Given the description of an element on the screen output the (x, y) to click on. 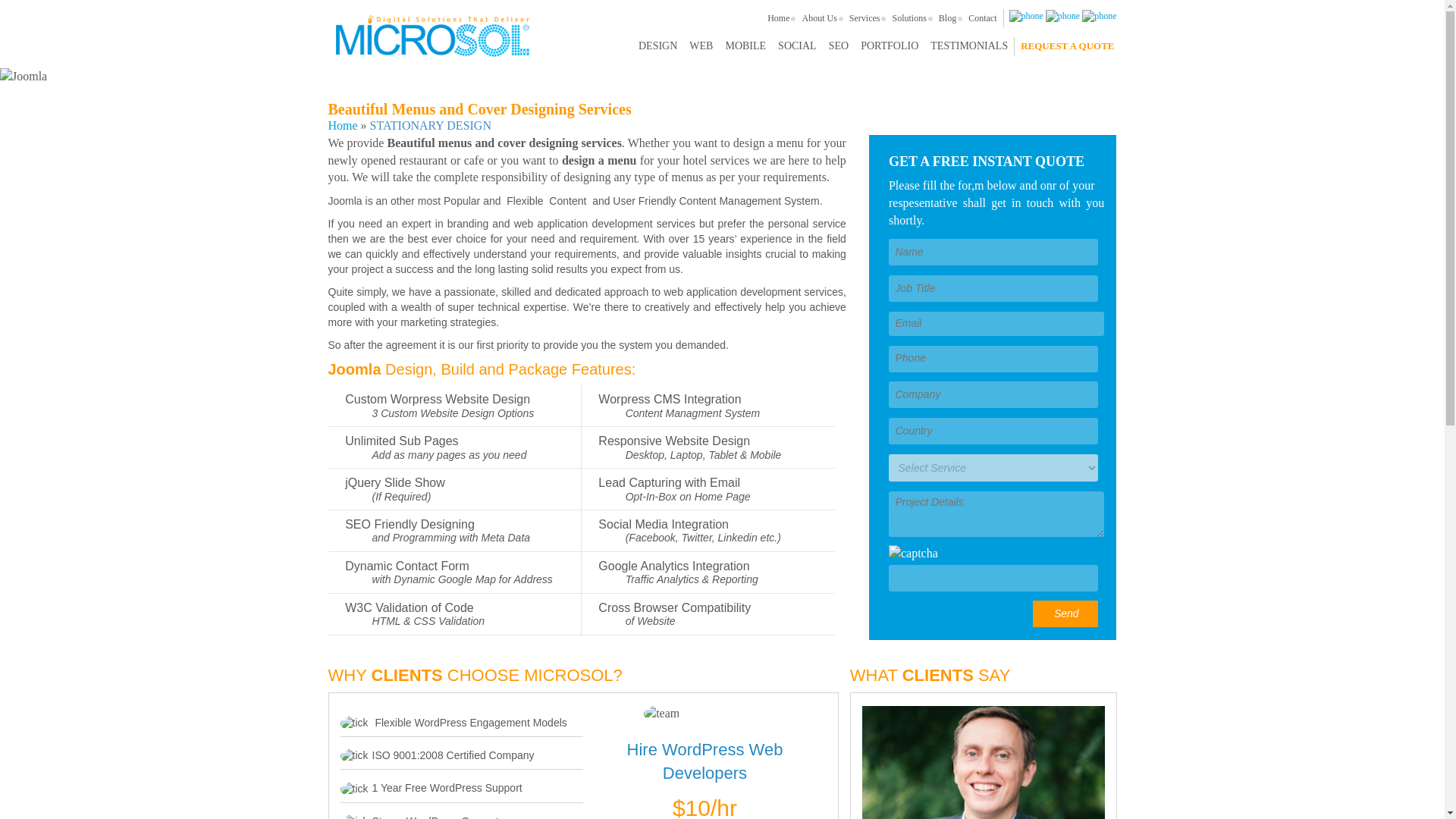
Send (1064, 613)
Contact (982, 18)
Home (341, 124)
DESIGN (656, 46)
About Us (818, 18)
MOBILE (745, 46)
PORTFOLIO (889, 46)
REQUEST A QUOTE (1066, 45)
Services (864, 18)
SOCIAL (796, 46)
